Given the description of an element on the screen output the (x, y) to click on. 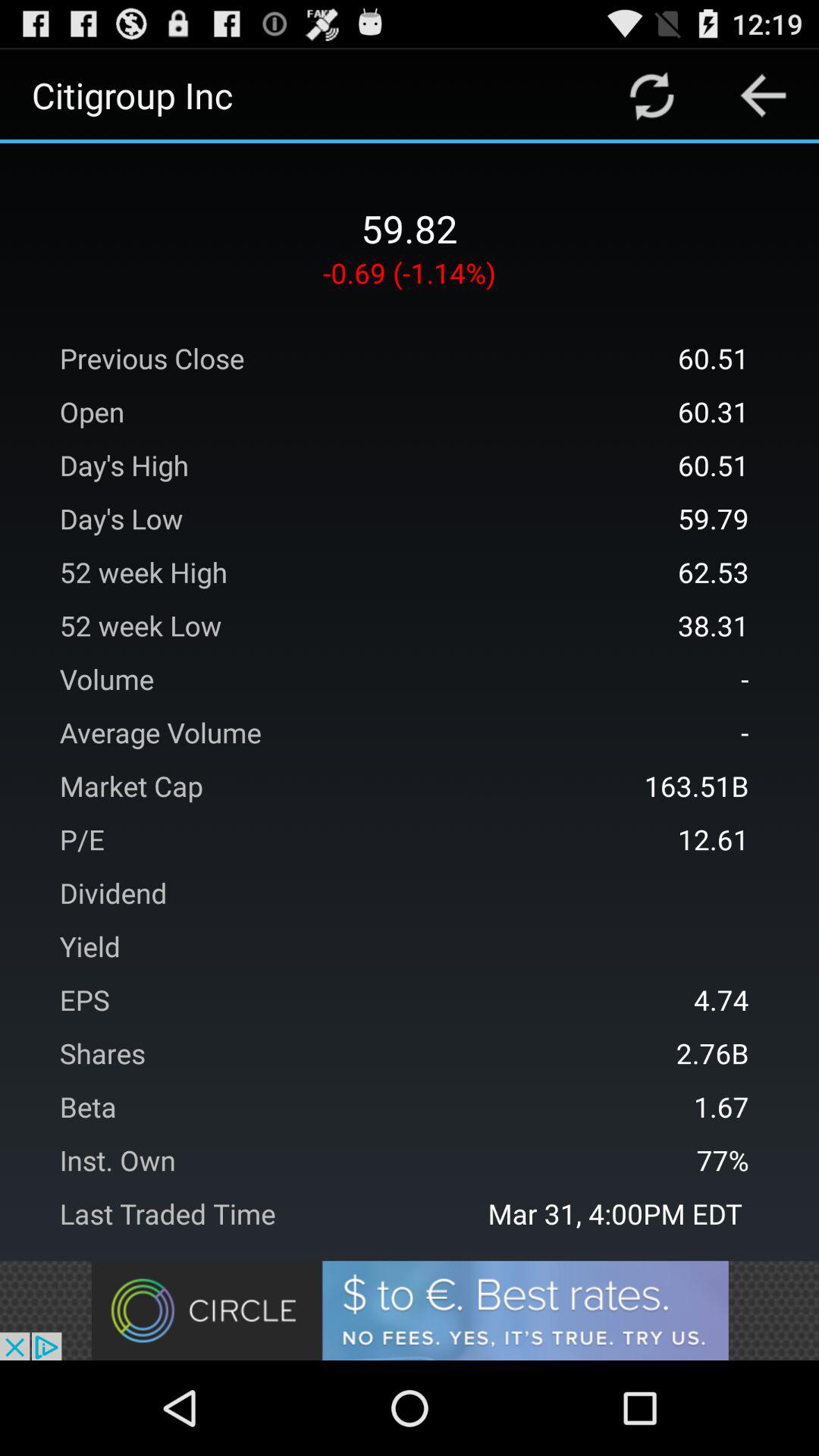
adverstisment (409, 1310)
